Given the description of an element on the screen output the (x, y) to click on. 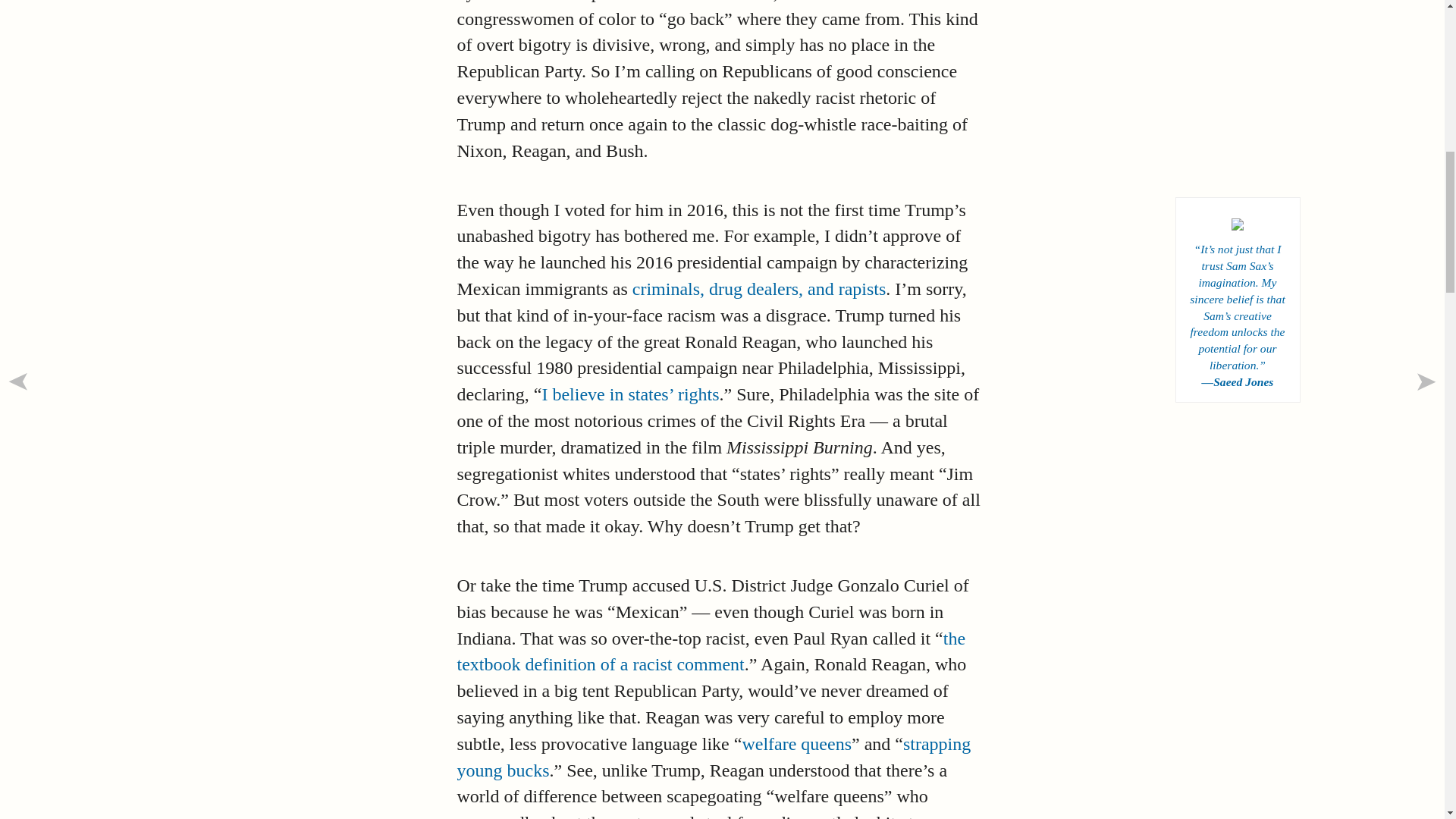
strapping young bucks (714, 756)
the textbook definition of a racist comment (711, 651)
criminals, drug dealers, and rapists (758, 288)
welfare queens (796, 743)
